Given the description of an element on the screen output the (x, y) to click on. 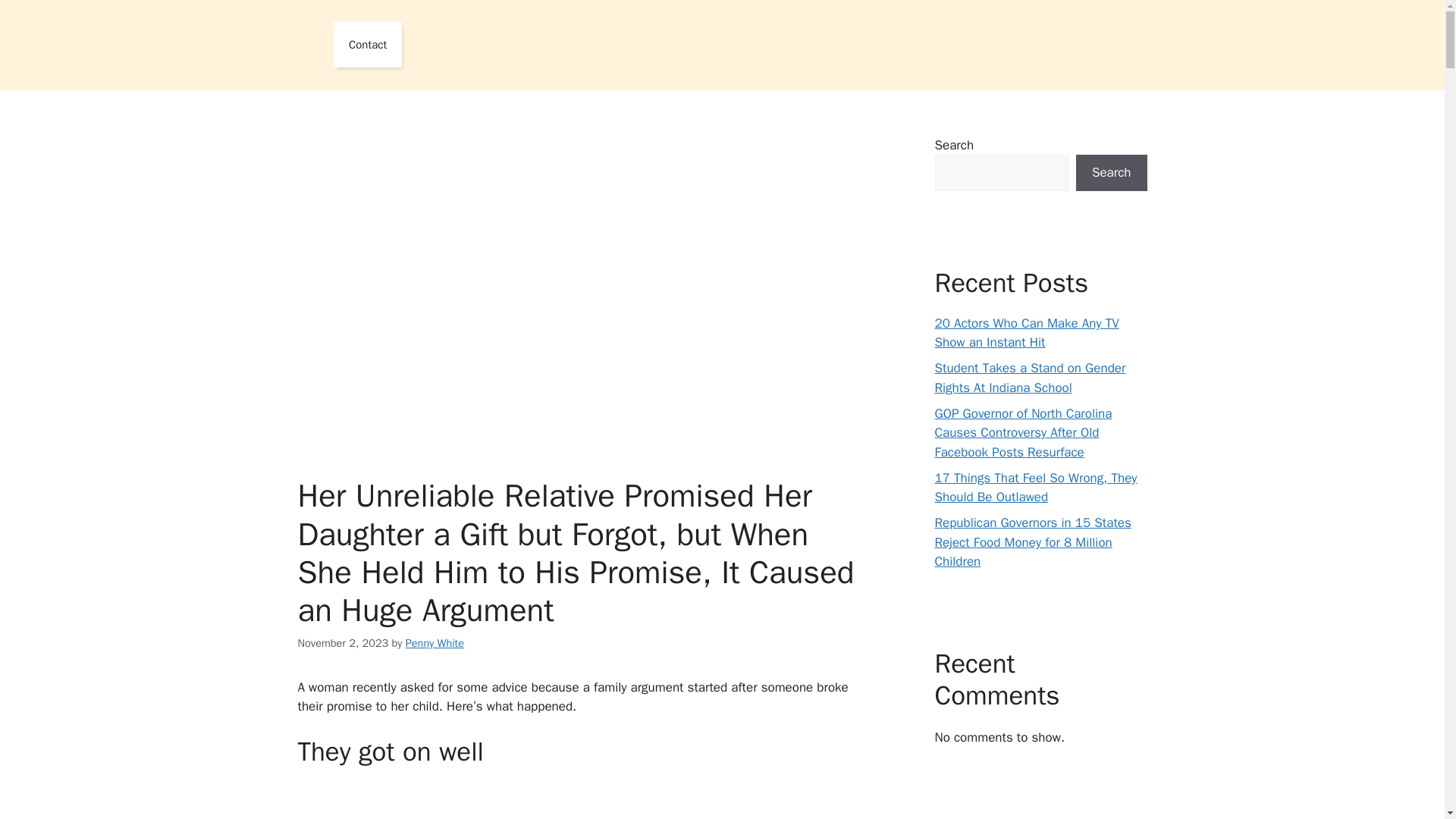
17 Things That Feel So Wrong, They Should Be Outlawed (1035, 488)
Contact (367, 44)
Search (1111, 172)
View all posts by Penny White (435, 643)
20 Actors Who Can Make Any TV Show an Instant Hit (1026, 333)
Penny White (435, 643)
Student Takes a Stand on Gender Rights At Indiana School (1029, 377)
